Given the description of an element on the screen output the (x, y) to click on. 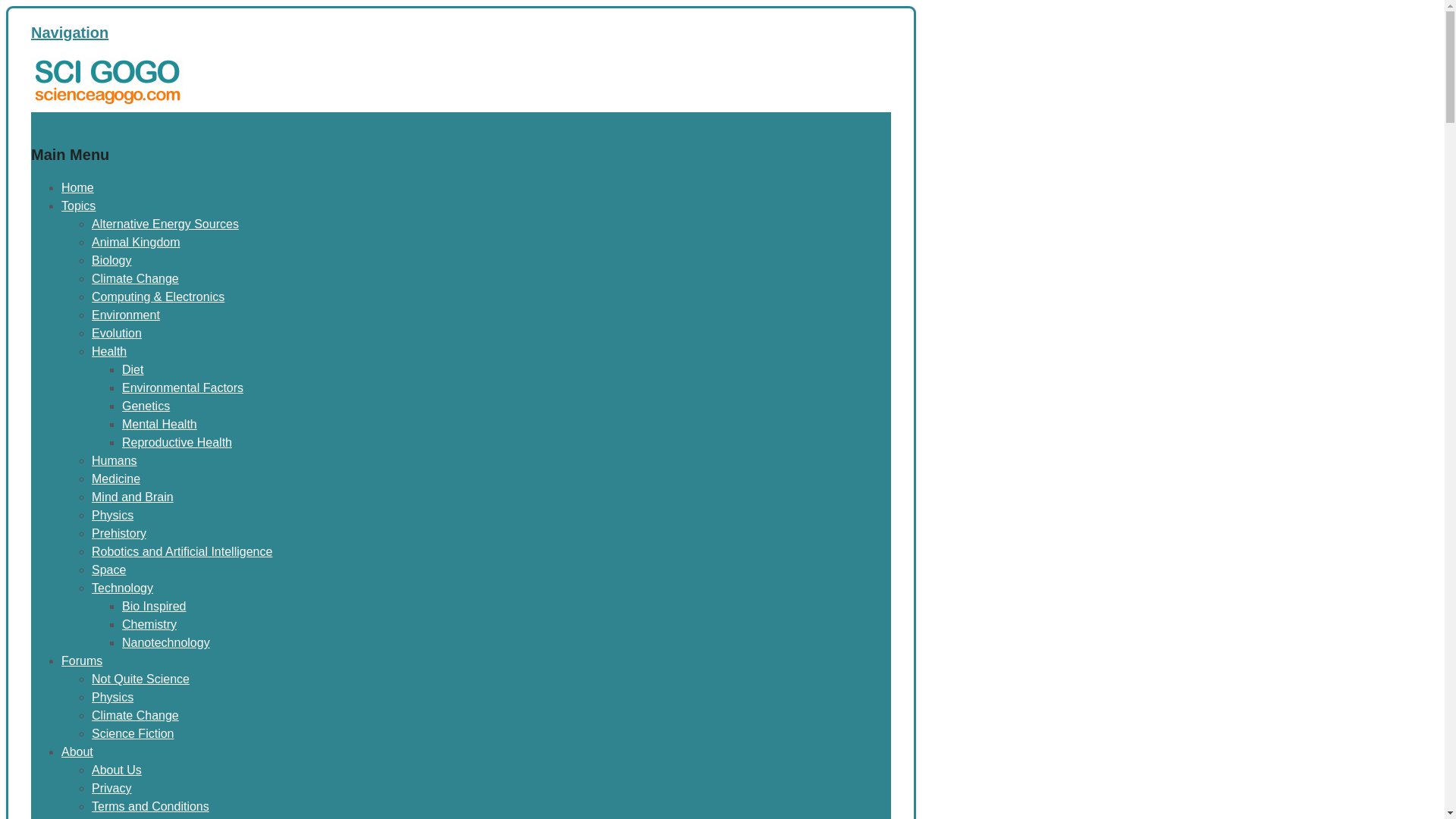
Environmental Factors (182, 387)
Animal Kingdom (135, 241)
Home (77, 187)
Reproductive Health (176, 441)
Genetics (146, 405)
Nanotechnology (165, 642)
Mind and Brain (132, 496)
Technology (121, 587)
Physics (112, 514)
Mental Health (159, 423)
About (77, 751)
Forums (81, 660)
Home (47, 120)
Not Quite Science (140, 678)
Topics (78, 205)
